Given the description of an element on the screen output the (x, y) to click on. 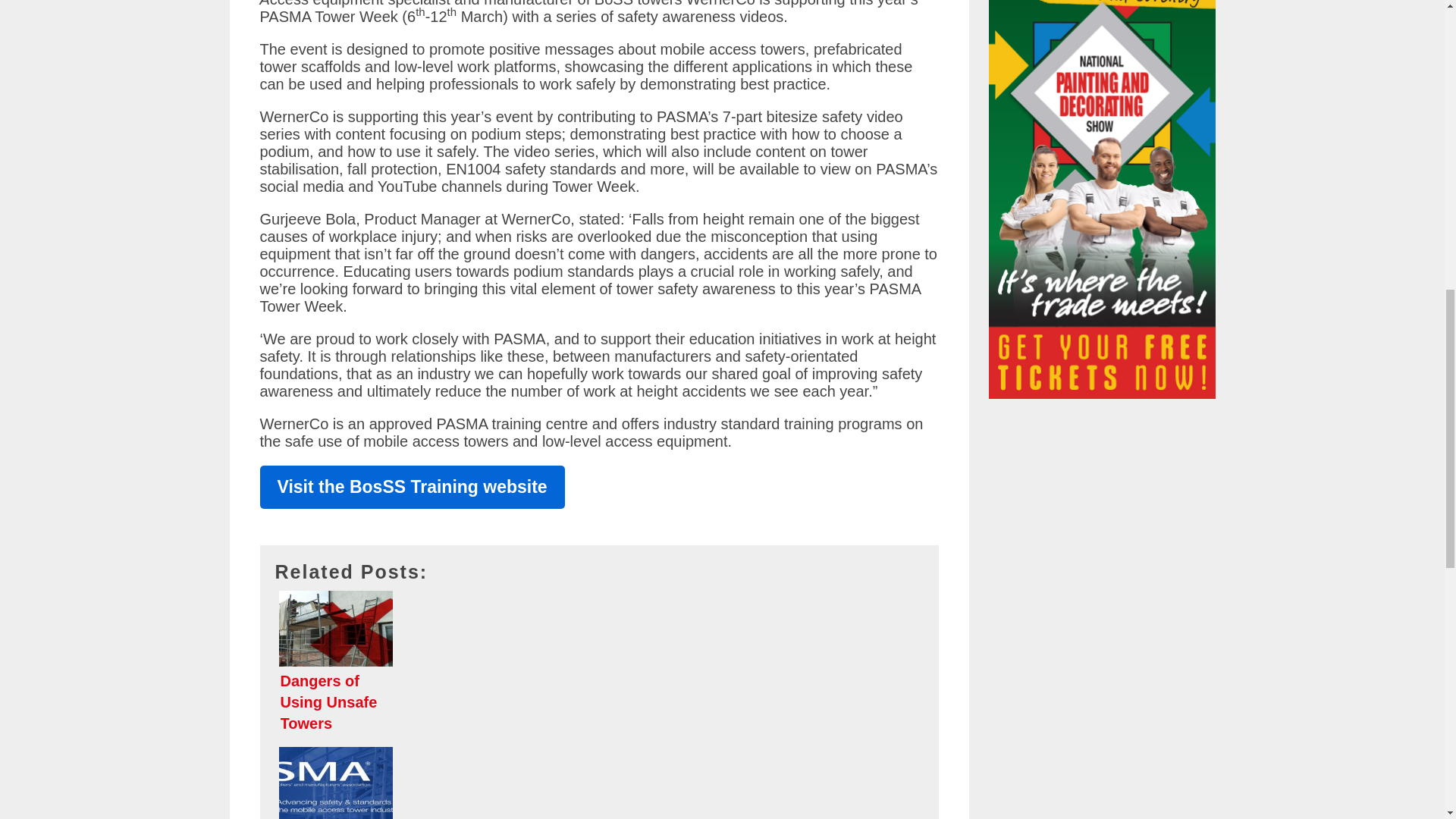
Dangers of Using Unsafe Towers (599, 664)
